Given the description of an element on the screen output the (x, y) to click on. 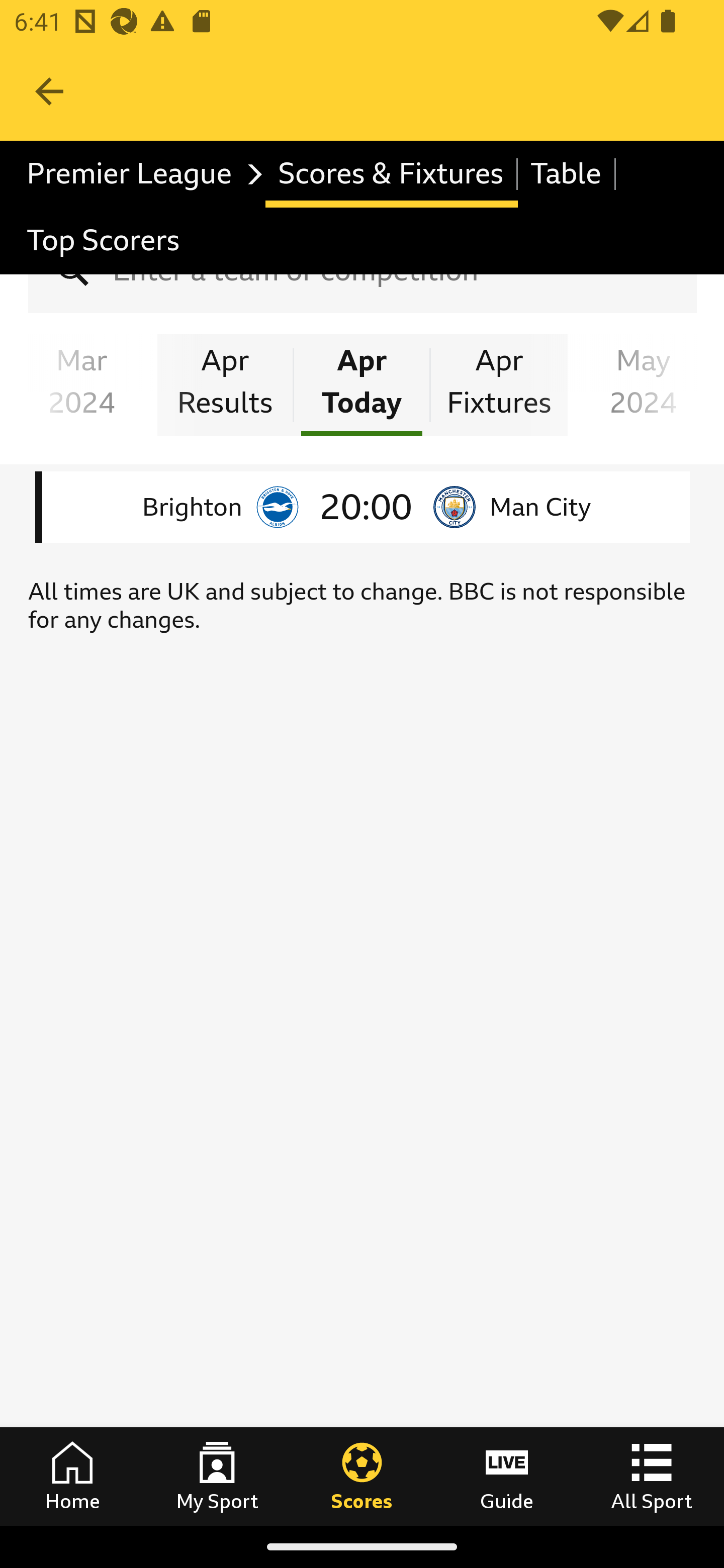
Navigate up (49, 91)
Premier League (140, 173)
Scores & Fixtures (391, 173)
Table (567, 173)
Top Scorers (103, 240)
Home (72, 1475)
My Sport (216, 1475)
Guide (506, 1475)
All Sport (651, 1475)
Back to top (29, 1450)
